Given the description of an element on the screen output the (x, y) to click on. 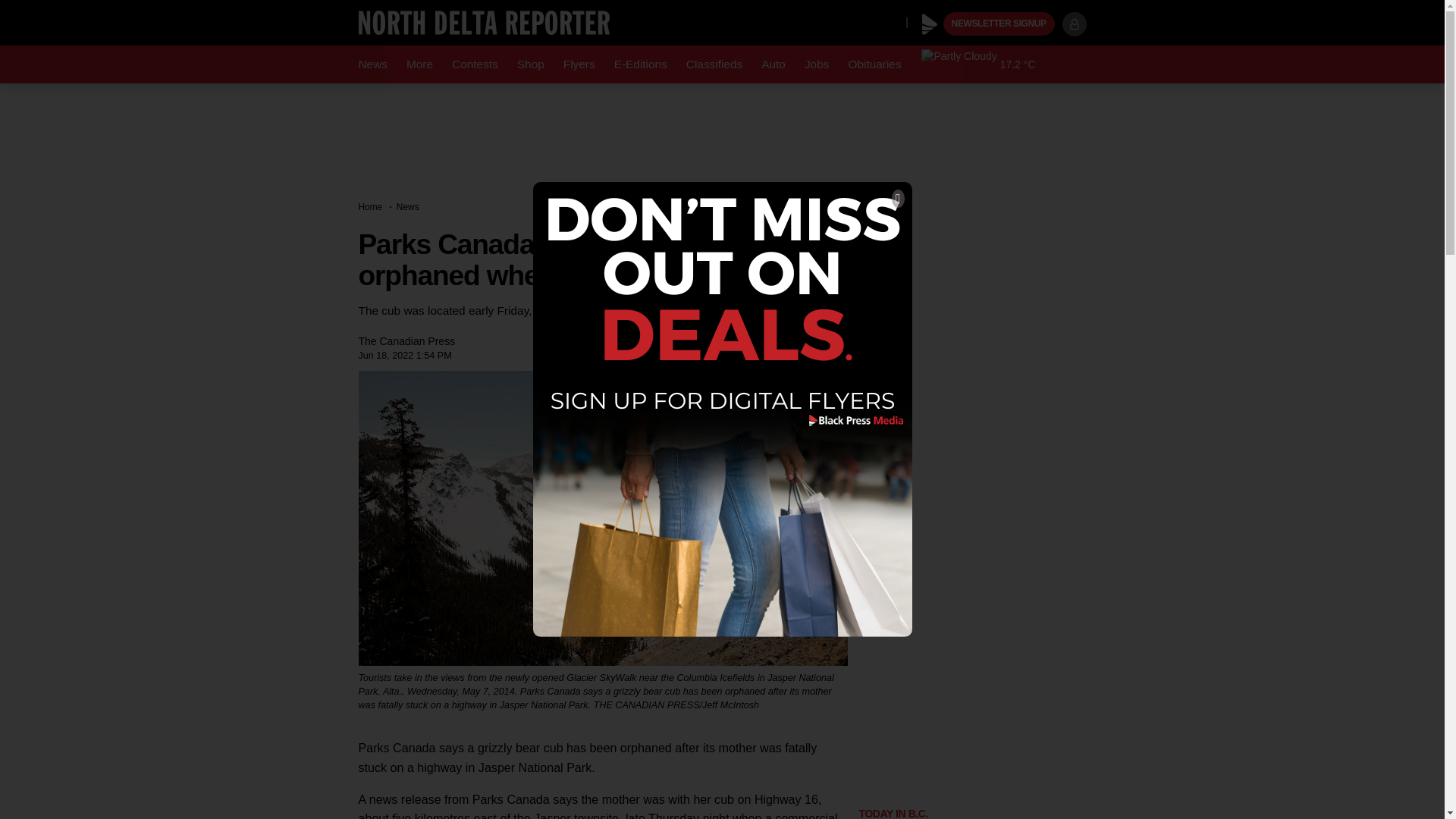
Play (929, 24)
News (372, 64)
Black Press Media (929, 24)
NEWSLETTER SIGNUP (998, 24)
X (889, 21)
